Given the description of an element on the screen output the (x, y) to click on. 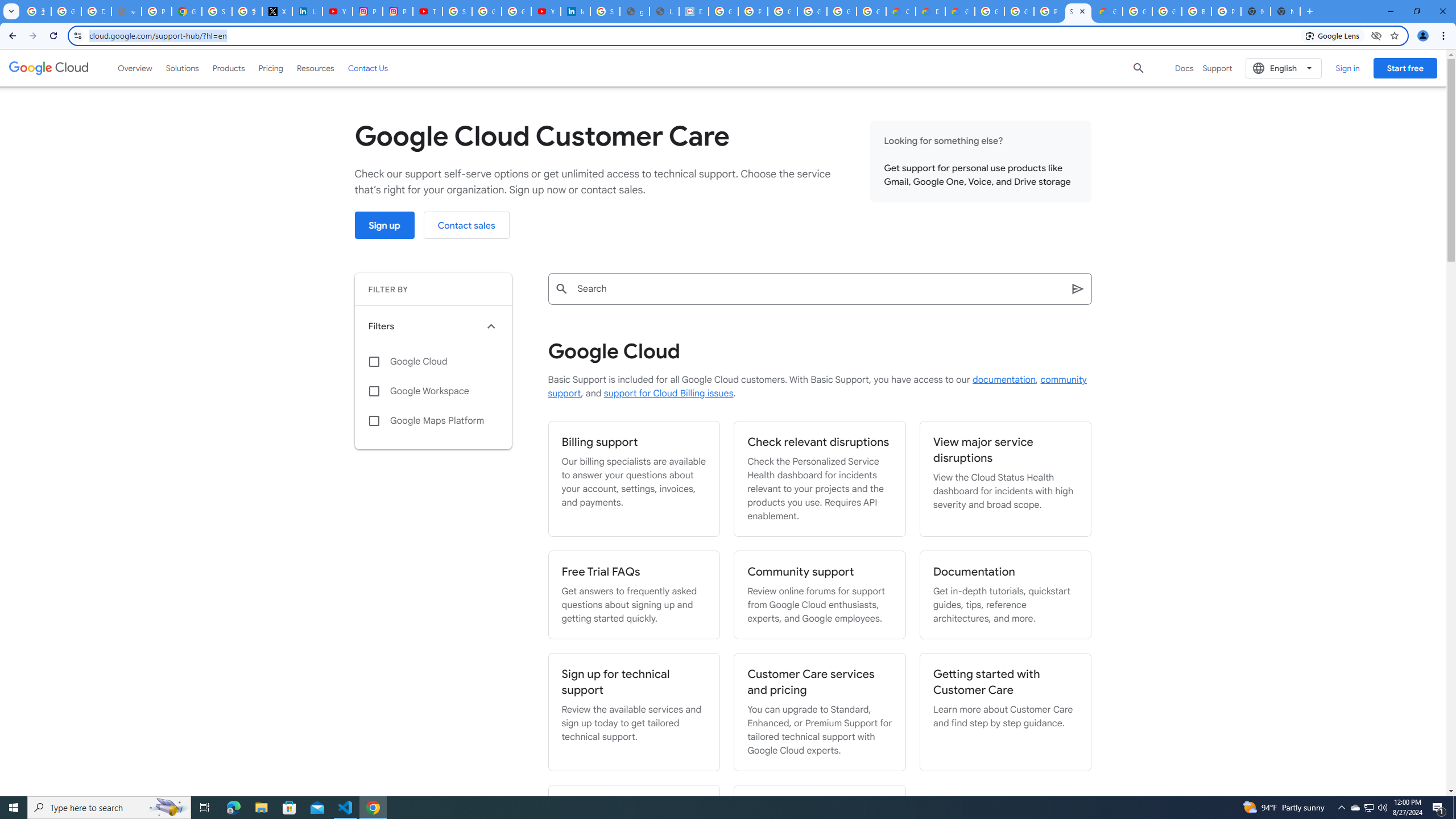
Filters keyboard_arrow_up (432, 326)
LinkedIn Privacy Policy (306, 11)
community support (816, 386)
Privacy Help Center - Policies Help (156, 11)
Docs (1183, 67)
